Given the description of an element on the screen output the (x, y) to click on. 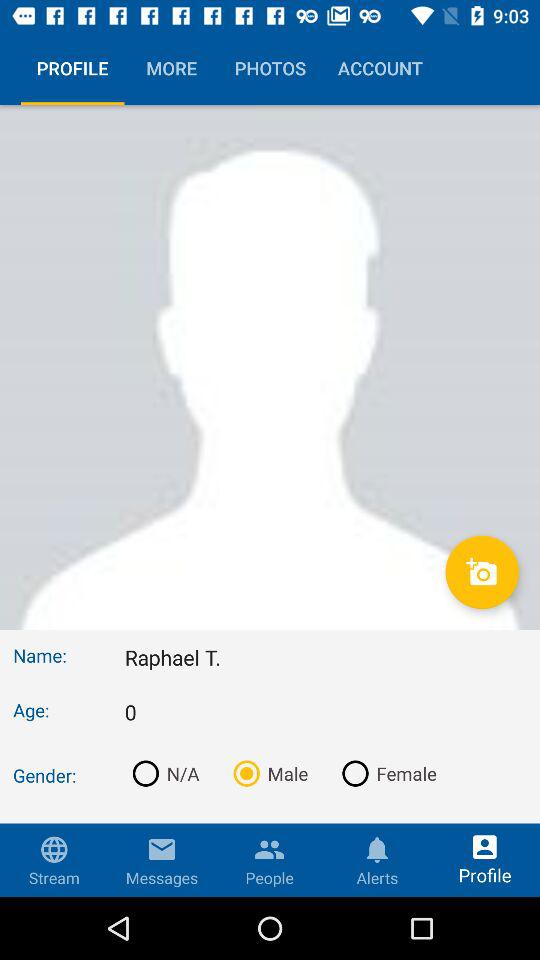
launch the icon next to the age: icon (325, 711)
